Given the description of an element on the screen output the (x, y) to click on. 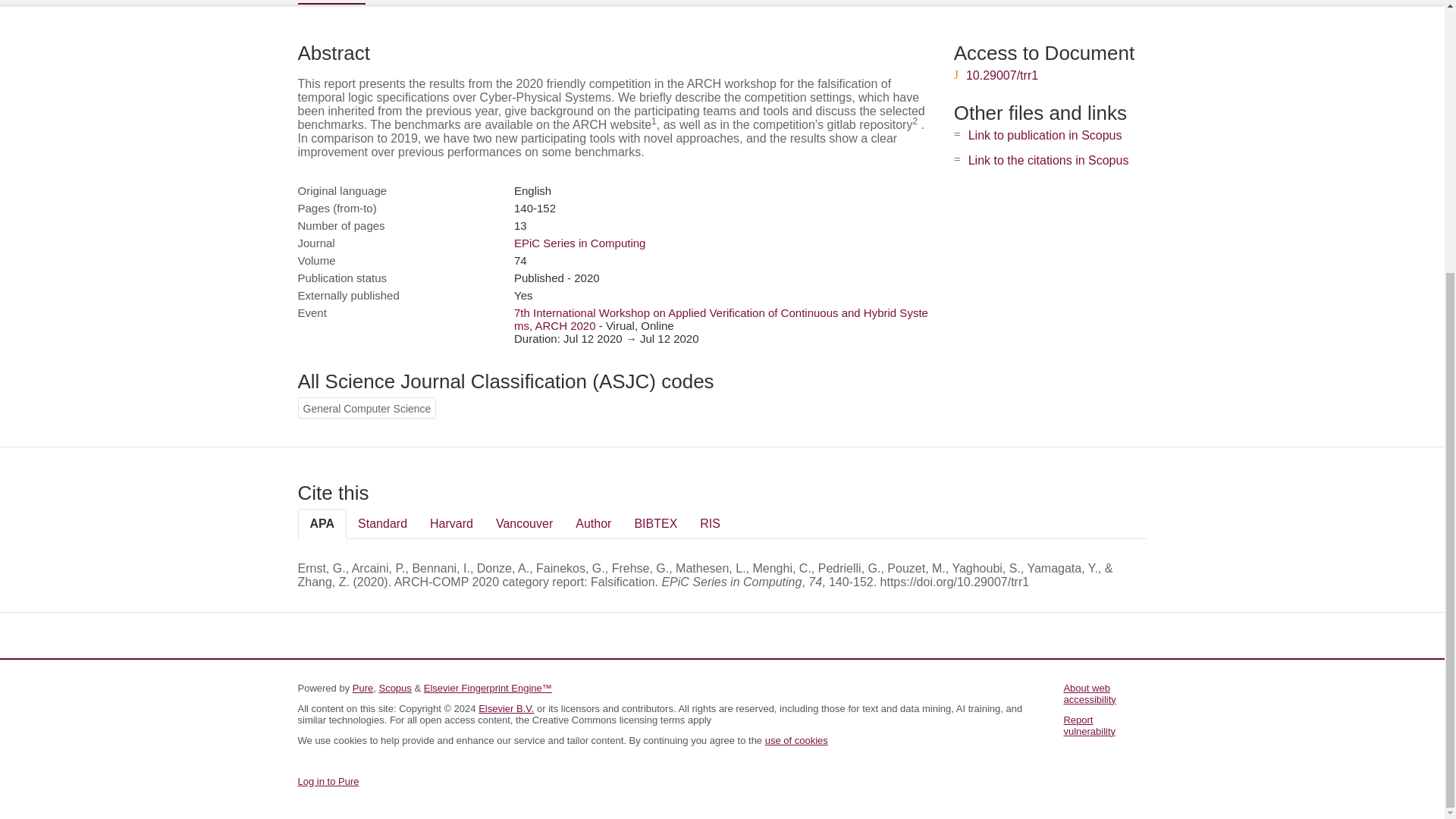
Overview (331, 2)
Fingerprint (419, 1)
About web accessibility (1088, 693)
Elsevier B.V. (506, 708)
Pure (362, 687)
Link to publication in Scopus (1045, 134)
Link to the citations in Scopus (1048, 160)
Log in to Pure (327, 781)
Scopus (394, 687)
EPiC Series in Computing (579, 242)
